Given the description of an element on the screen output the (x, y) to click on. 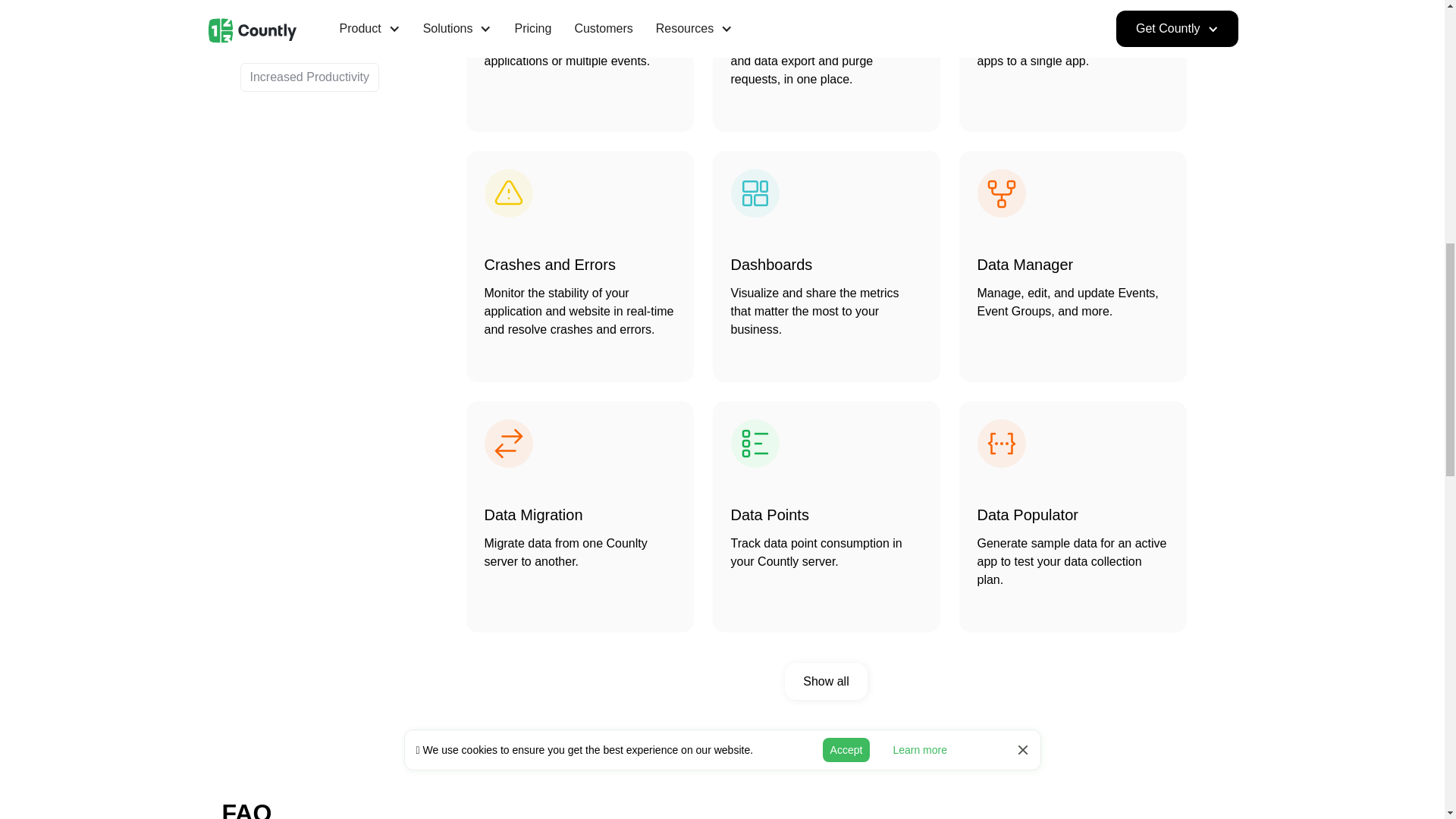
User Retention (290, 6)
User Behavior (288, 42)
Increased Productivity (309, 76)
